Given the description of an element on the screen output the (x, y) to click on. 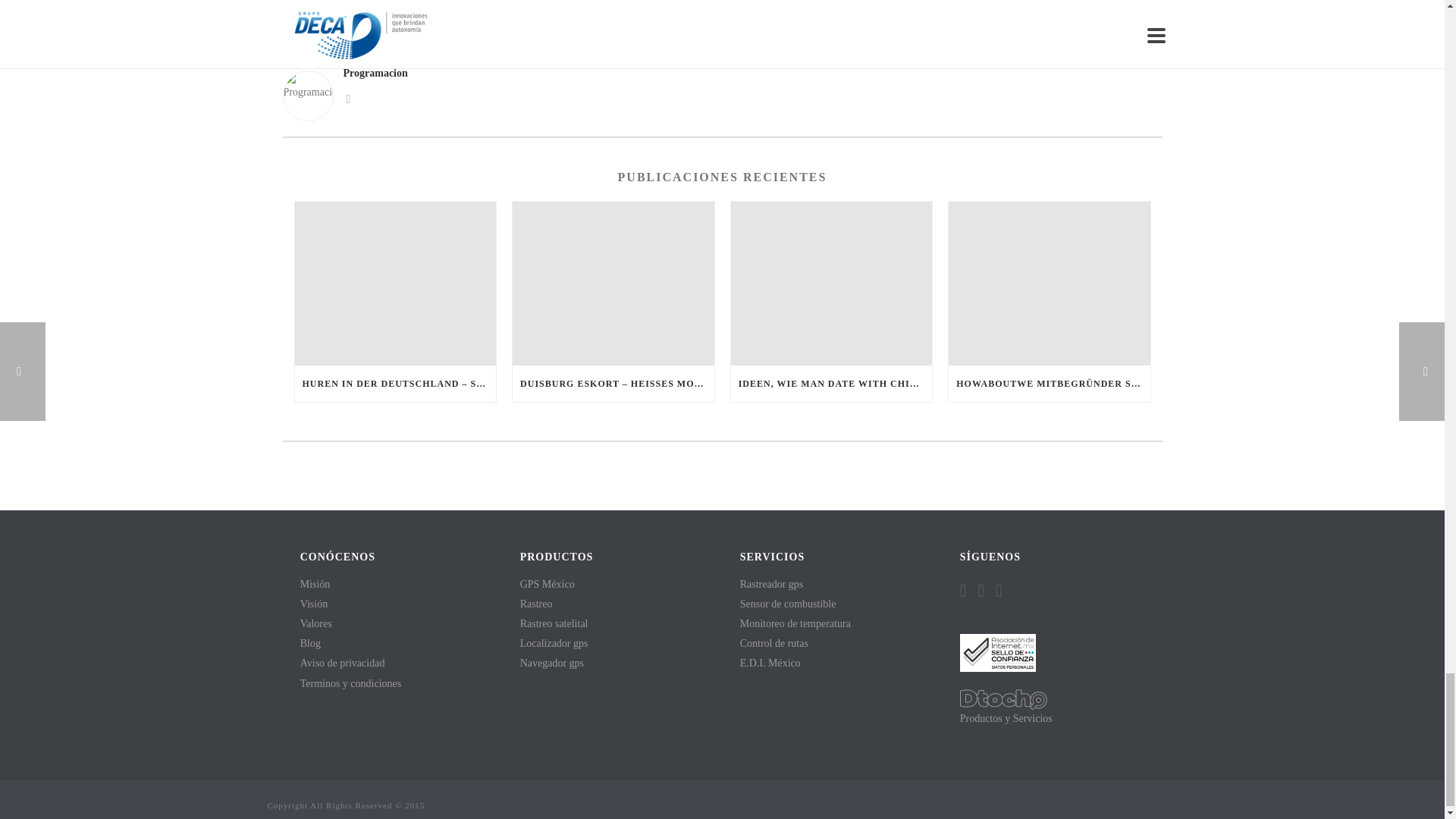
Rastreador gps (771, 583)
Aviso de privacidad (342, 663)
Navegador gps (551, 663)
Rastreo (536, 603)
Rastreo satelital (553, 623)
Terminos y condiciones (350, 683)
Localizador gps (553, 643)
Ideen, wie man  Date With  Children (831, 283)
Programacion (721, 72)
Blog (309, 643)
